Given the description of an element on the screen output the (x, y) to click on. 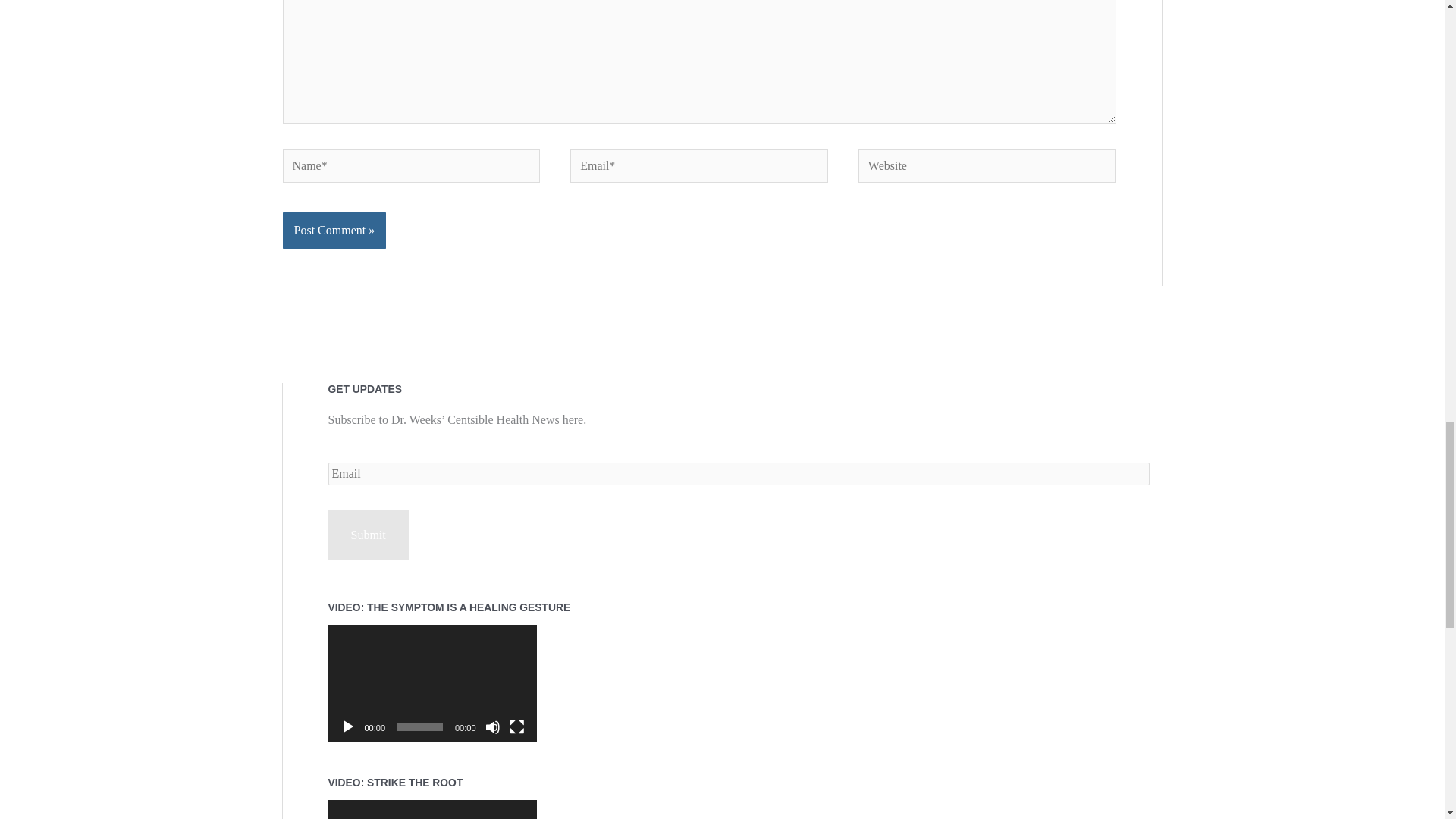
Fullscreen (516, 726)
Mute (492, 726)
Submit (367, 535)
Email (737, 473)
Play (347, 726)
